Given the description of an element on the screen output the (x, y) to click on. 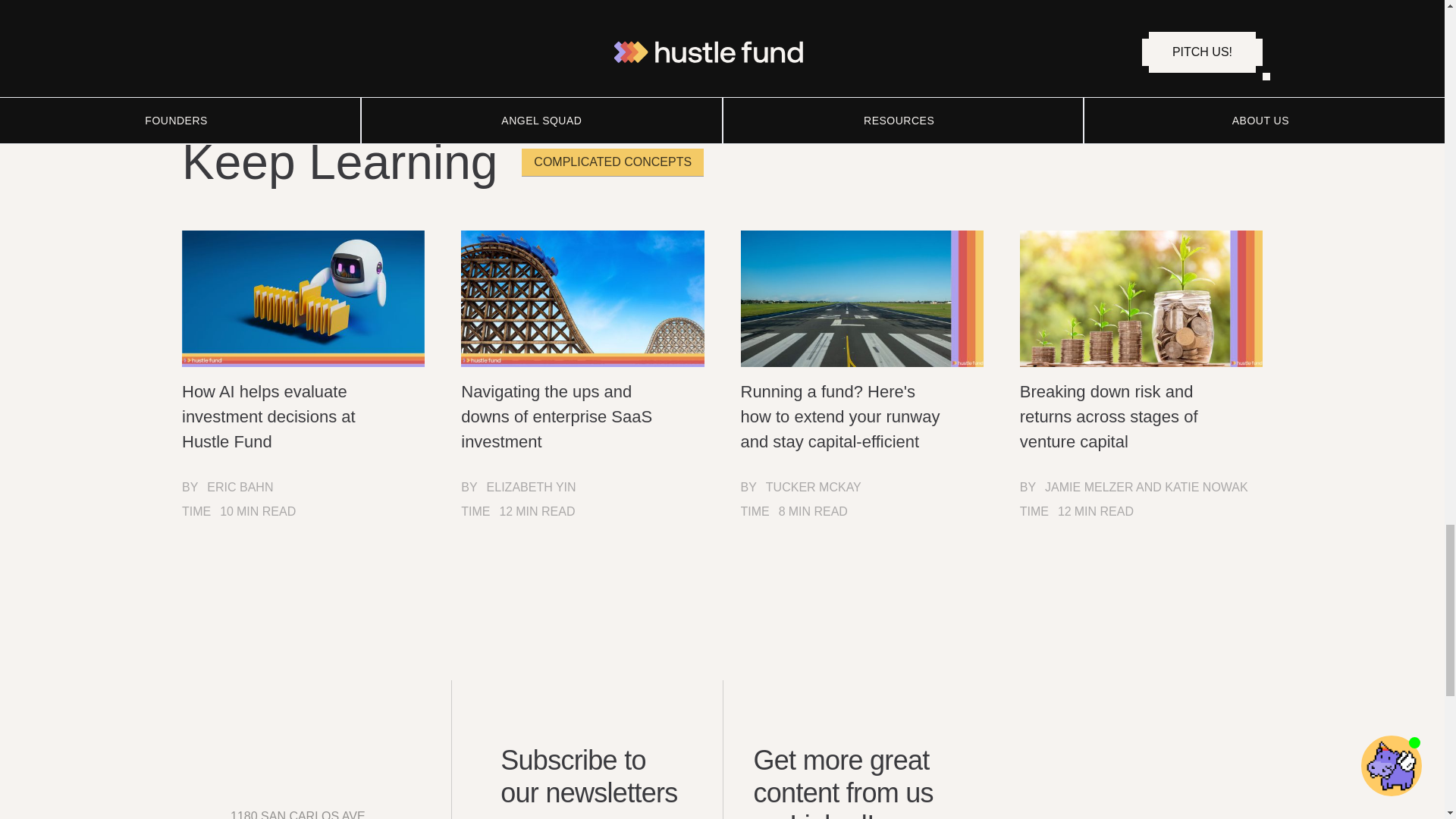
COMPLICATED CONCEPTS (612, 162)
SIGN UP (267, 43)
